Given the description of an element on the screen output the (x, y) to click on. 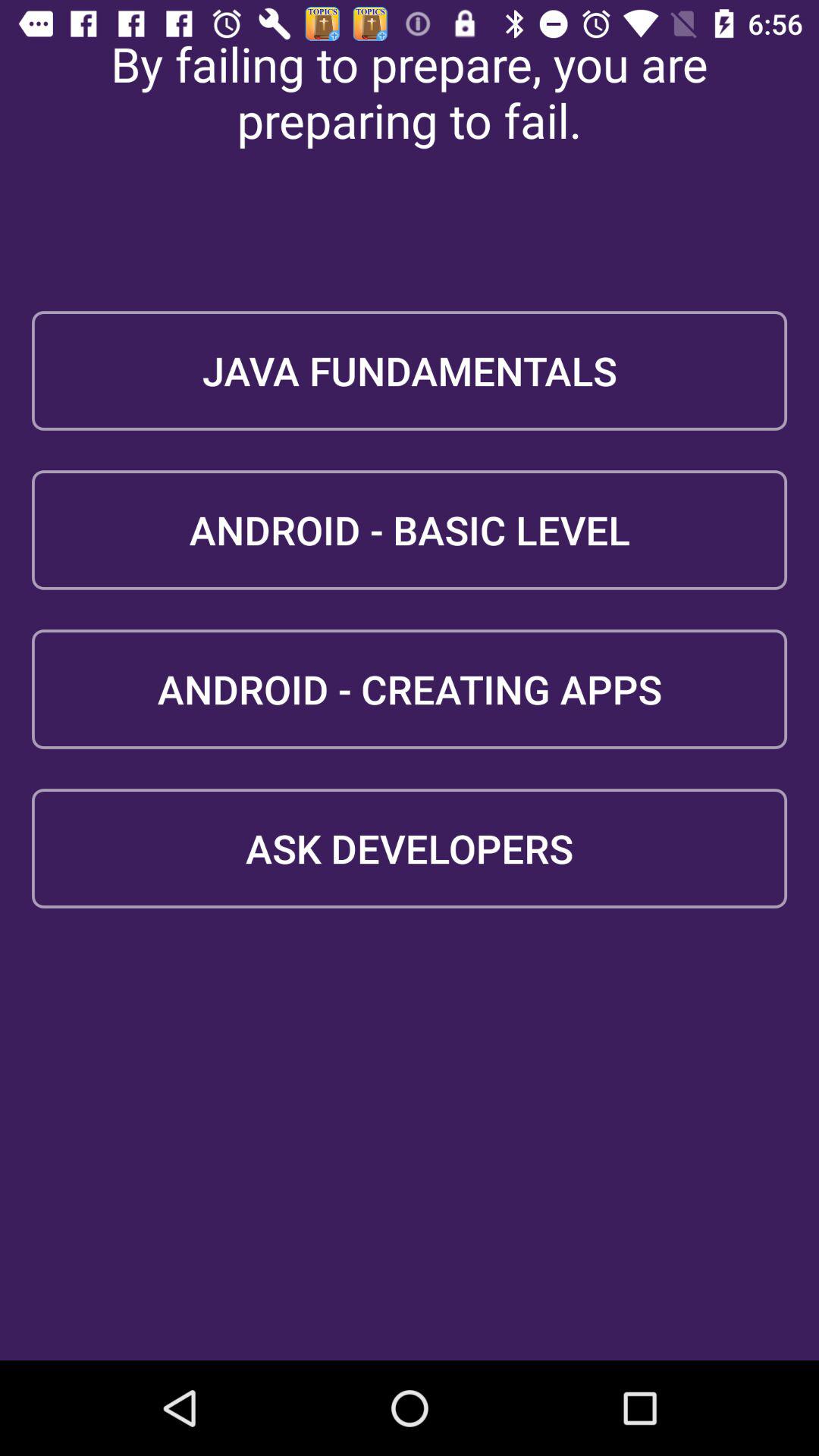
open android - creating apps item (409, 689)
